Given the description of an element on the screen output the (x, y) to click on. 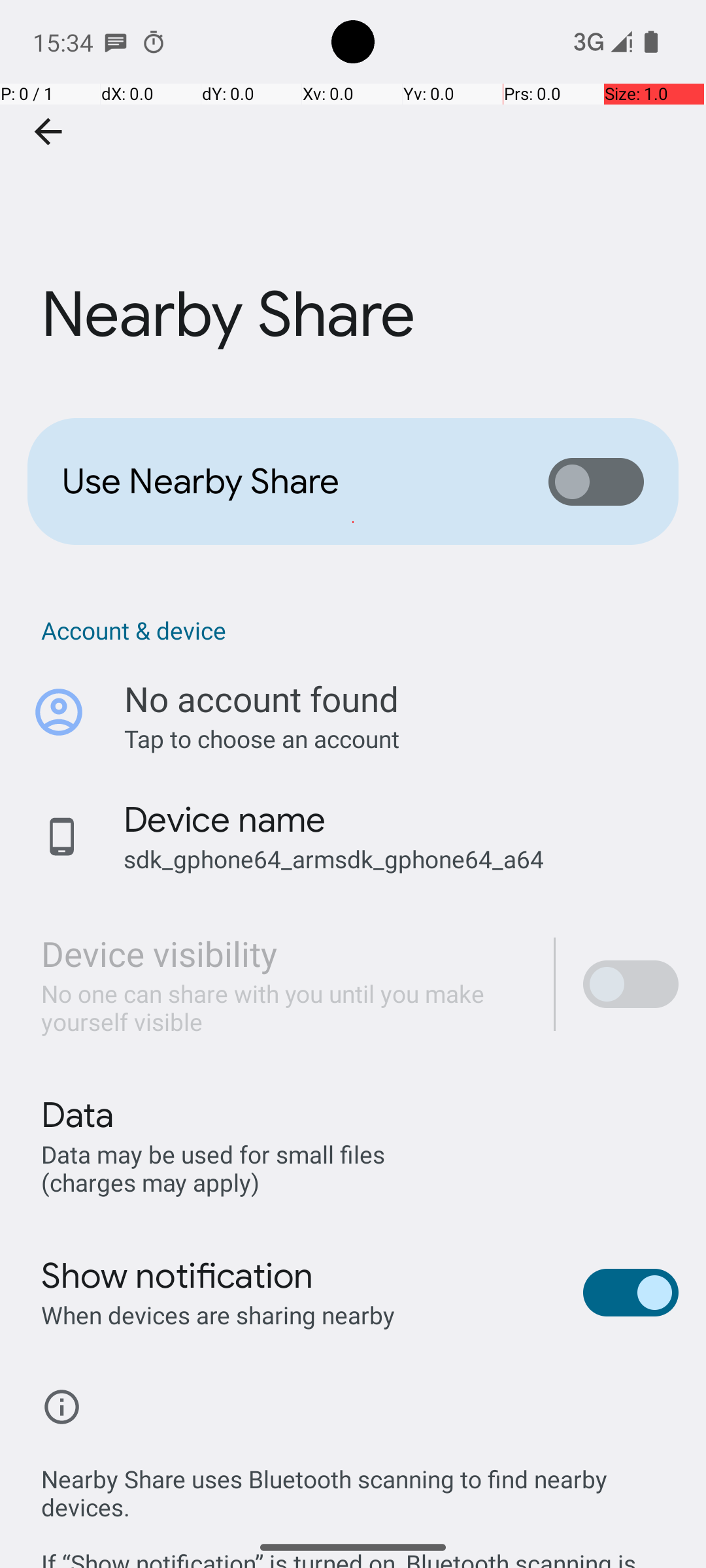
Use Nearby Share Element type: android.widget.TextView (284, 481)
Account & device Element type: android.widget.TextView (359, 629)
Tap to choose an account Element type: android.widget.TextView (401, 738)
sdk_gphone64_armsdk_gphone64_a64 Element type: android.widget.TextView (333, 858)
Data Element type: android.widget.TextView (77, 1115)
Data may be used for small files 
(charges may apply) Element type: android.widget.TextView (215, 1167)
Show notification Element type: android.widget.TextView (177, 1275)
When devices are sharing nearby Element type: android.widget.TextView (218, 1314)
Nearby Share uses Bluetooth scanning to find nearby devices. 

If “Show notification” is turned on, Bluetooth scanning is used to notify you if someone wants to share with you, even when Nearby Share is turned off. Element type: android.widget.TextView (359, 1501)
No one can share with you until you make yourself visible Element type: android.widget.TextView (283, 1007)
